Given the description of an element on the screen output the (x, y) to click on. 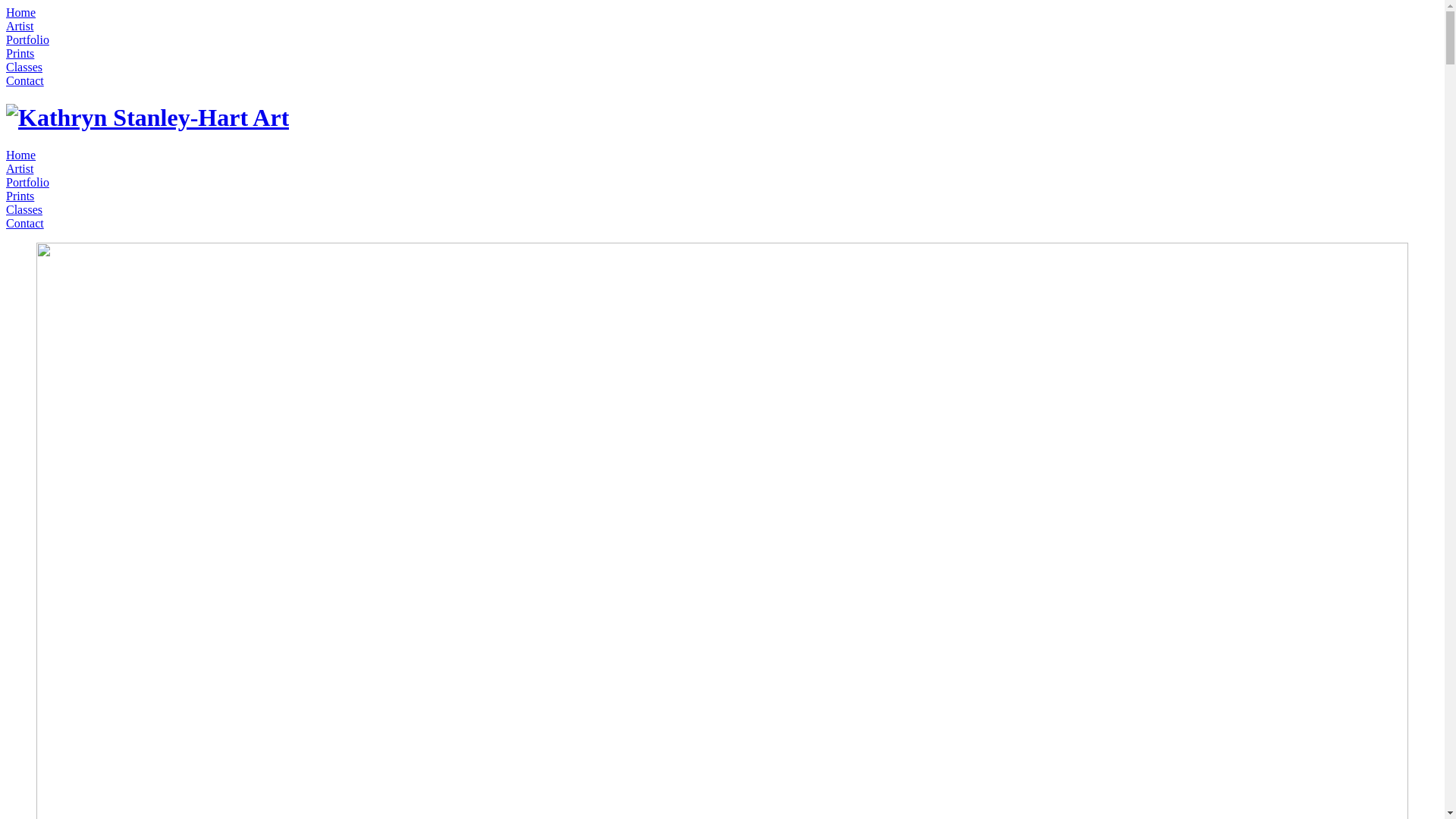
Artist Element type: text (19, 25)
Prints Element type: text (20, 195)
Portfolio Element type: text (27, 181)
Artist Element type: text (19, 168)
Classes Element type: text (24, 66)
Portfolio Element type: text (27, 39)
Prints Element type: text (20, 53)
Contact Element type: text (24, 222)
Home Element type: text (20, 154)
Classes Element type: text (24, 209)
Home Element type: text (20, 12)
Contact Element type: text (24, 80)
